Given the description of an element on the screen output the (x, y) to click on. 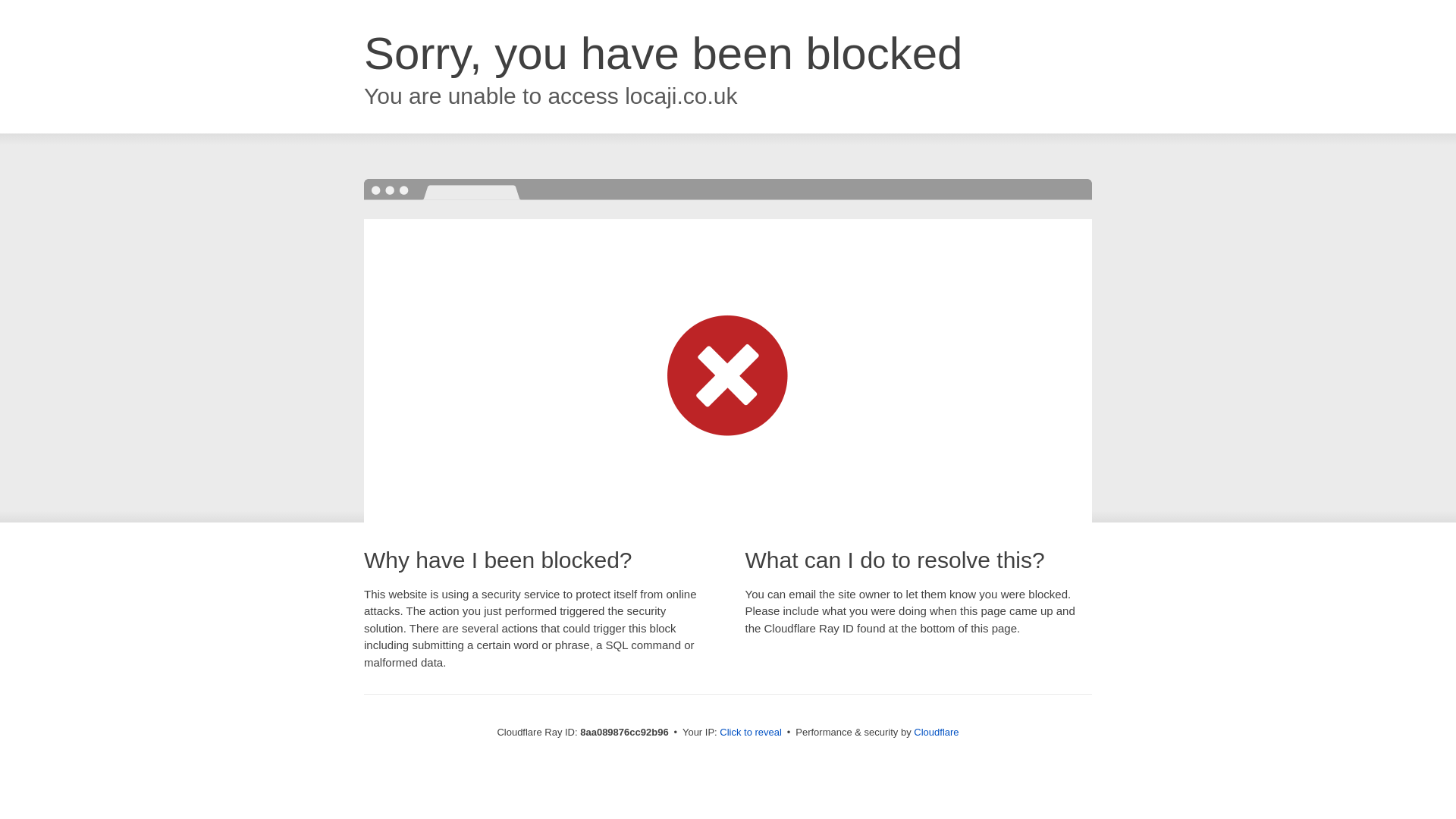
Click to reveal (750, 732)
Cloudflare (936, 731)
